Given the description of an element on the screen output the (x, y) to click on. 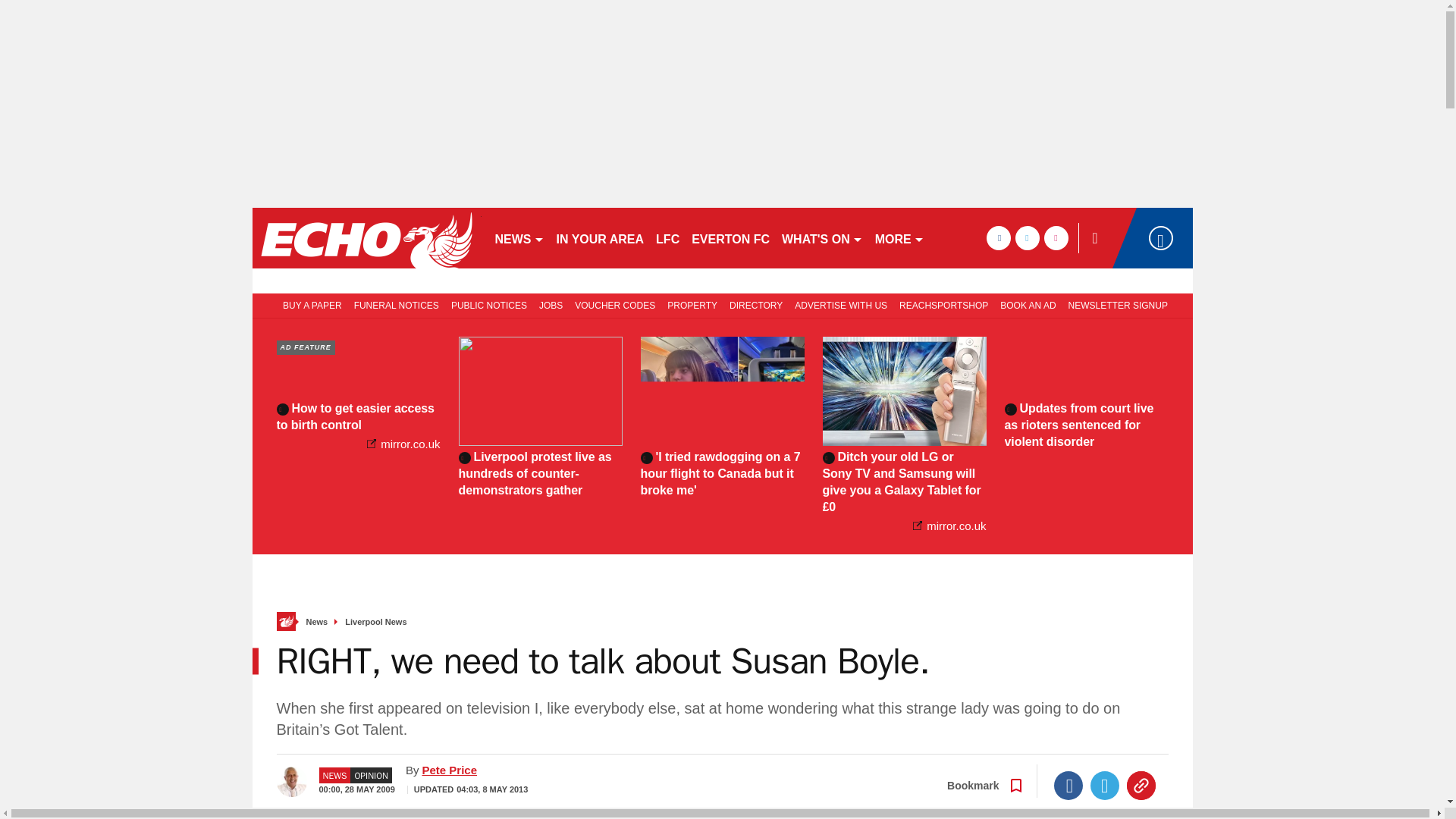
liverpoolecho (365, 238)
instagram (1055, 238)
twitter (1026, 238)
Twitter (1104, 785)
EVERTON FC (730, 238)
IN YOUR AREA (600, 238)
MORE (899, 238)
facebook (997, 238)
WHAT'S ON (822, 238)
NEWS (518, 238)
